Given the description of an element on the screen output the (x, y) to click on. 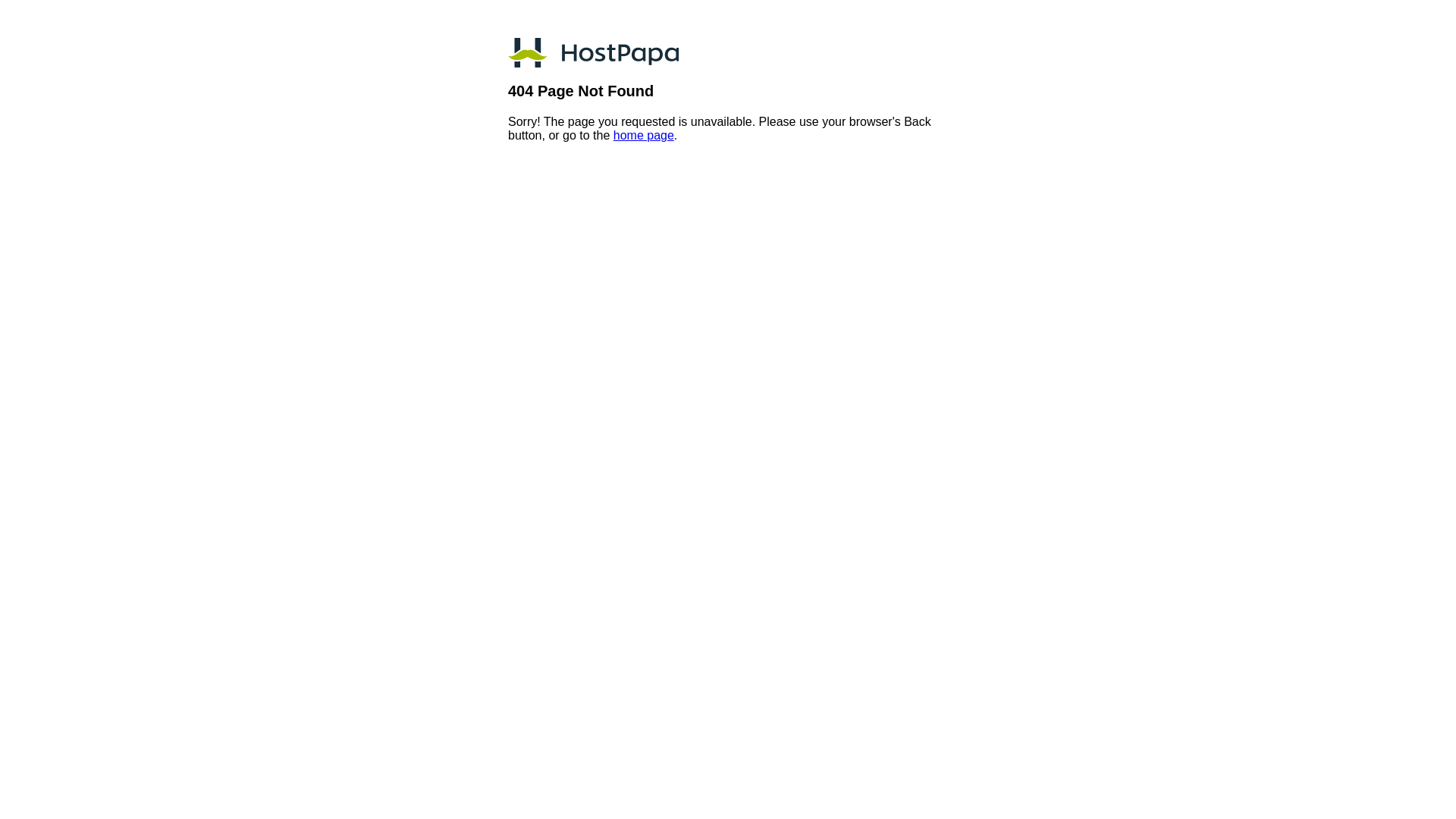
home page Element type: text (643, 134)
